Given the description of an element on the screen output the (x, y) to click on. 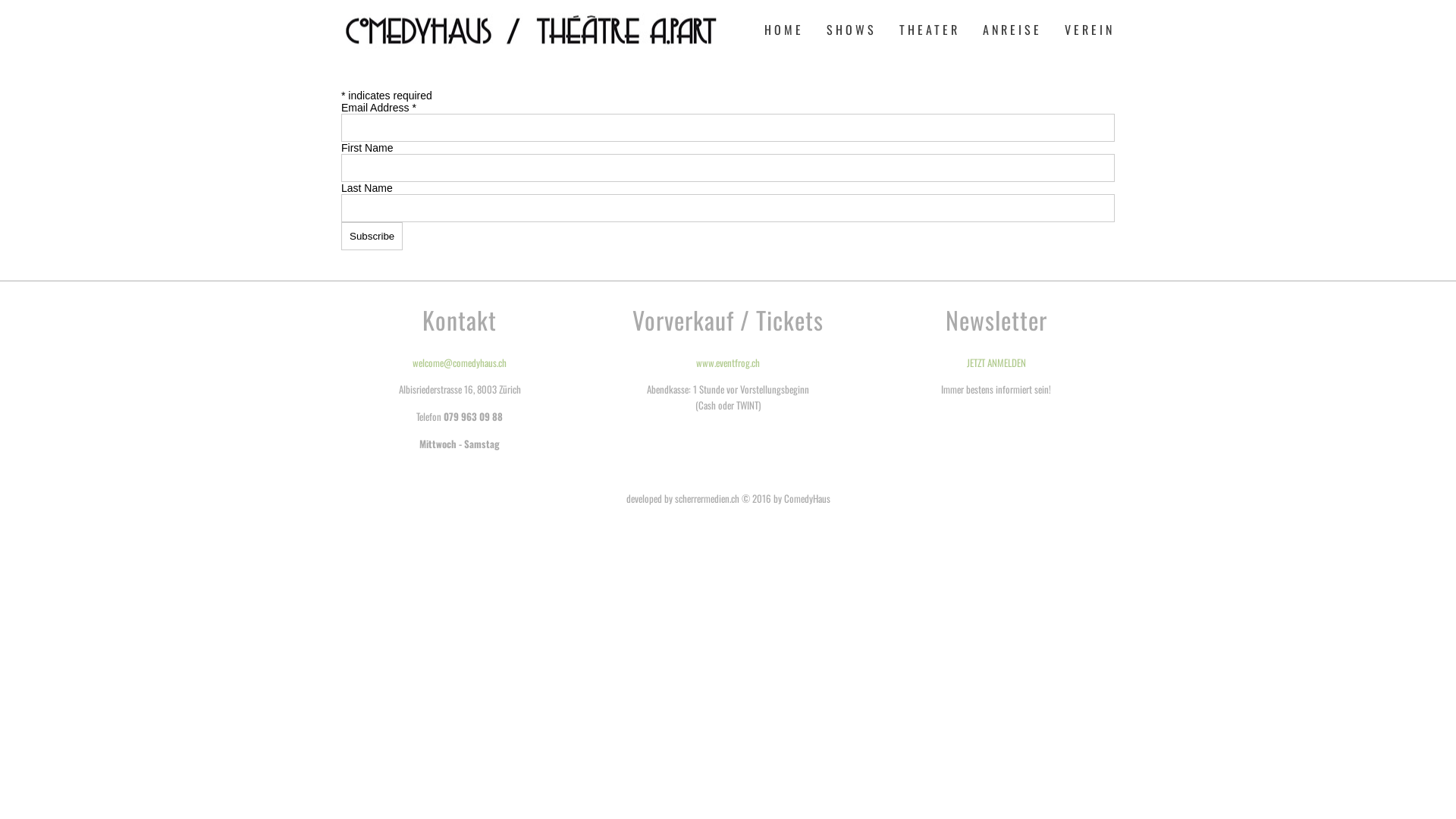
welcome@comedyhaus.ch Element type: text (459, 362)
SHOWS Element type: text (851, 29)
THEATER Element type: text (929, 29)
HOME Element type: text (784, 29)
VEREIN Element type: text (1083, 29)
JETZT ANMELDEN Element type: text (996, 362)
www.eventfrog.ch Element type: text (727, 362)
ANREISE Element type: text (1012, 29)
Subscribe Element type: text (371, 236)
